Given the description of an element on the screen output the (x, y) to click on. 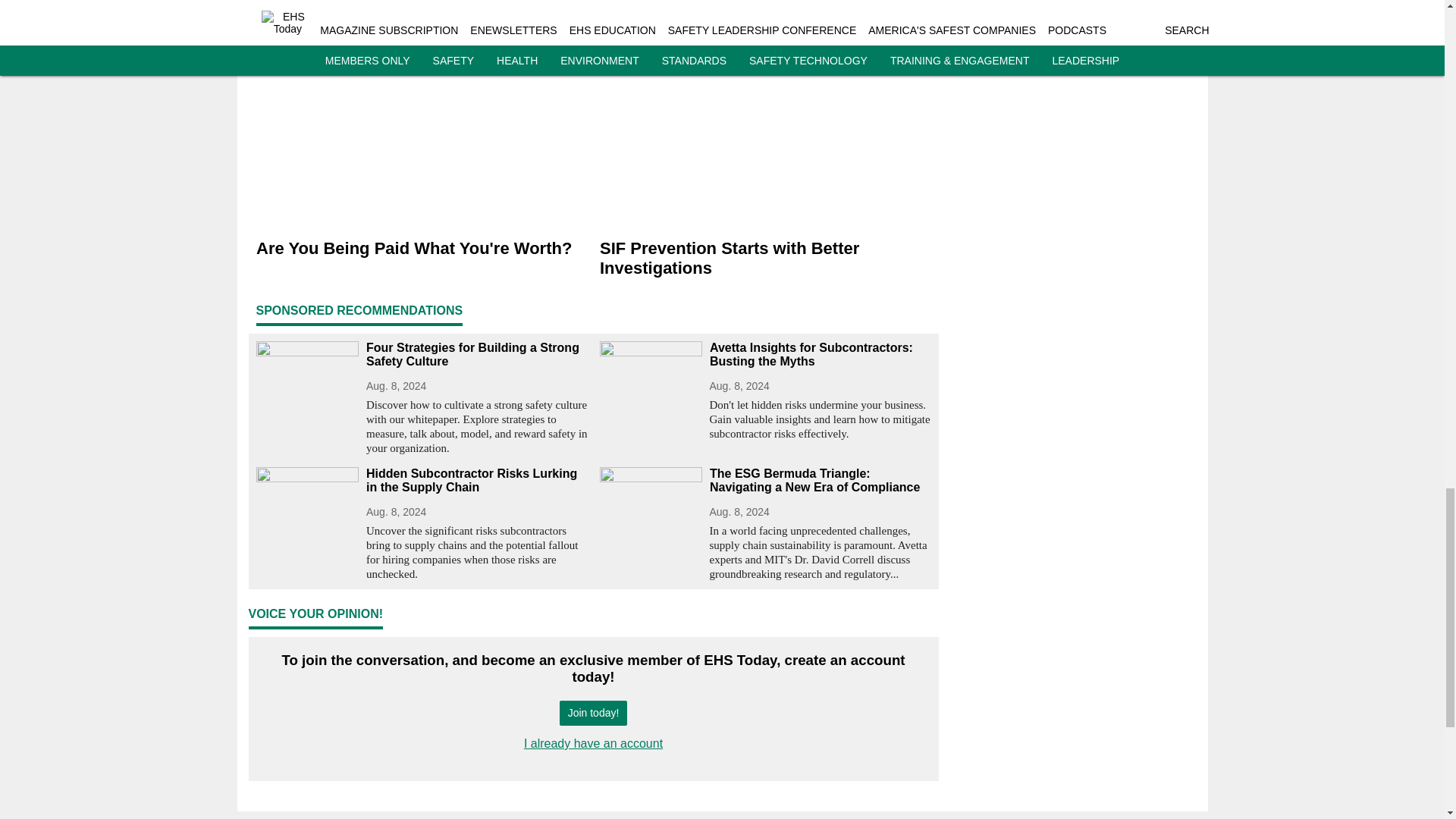
The ESG Bermuda Triangle: Navigating a New Era of Compliance (820, 480)
Four Strategies for Building a Strong Safety Culture (476, 354)
I already have an account (593, 743)
Are You Being Paid What You're Worth? (422, 248)
Join today! (593, 713)
Avetta Insights for Subcontractors: Busting the Myths (820, 354)
SIF Prevention Starts with Better Investigations (764, 258)
Hidden Subcontractor Risks Lurking in the Supply Chain (476, 480)
